Given the description of an element on the screen output the (x, y) to click on. 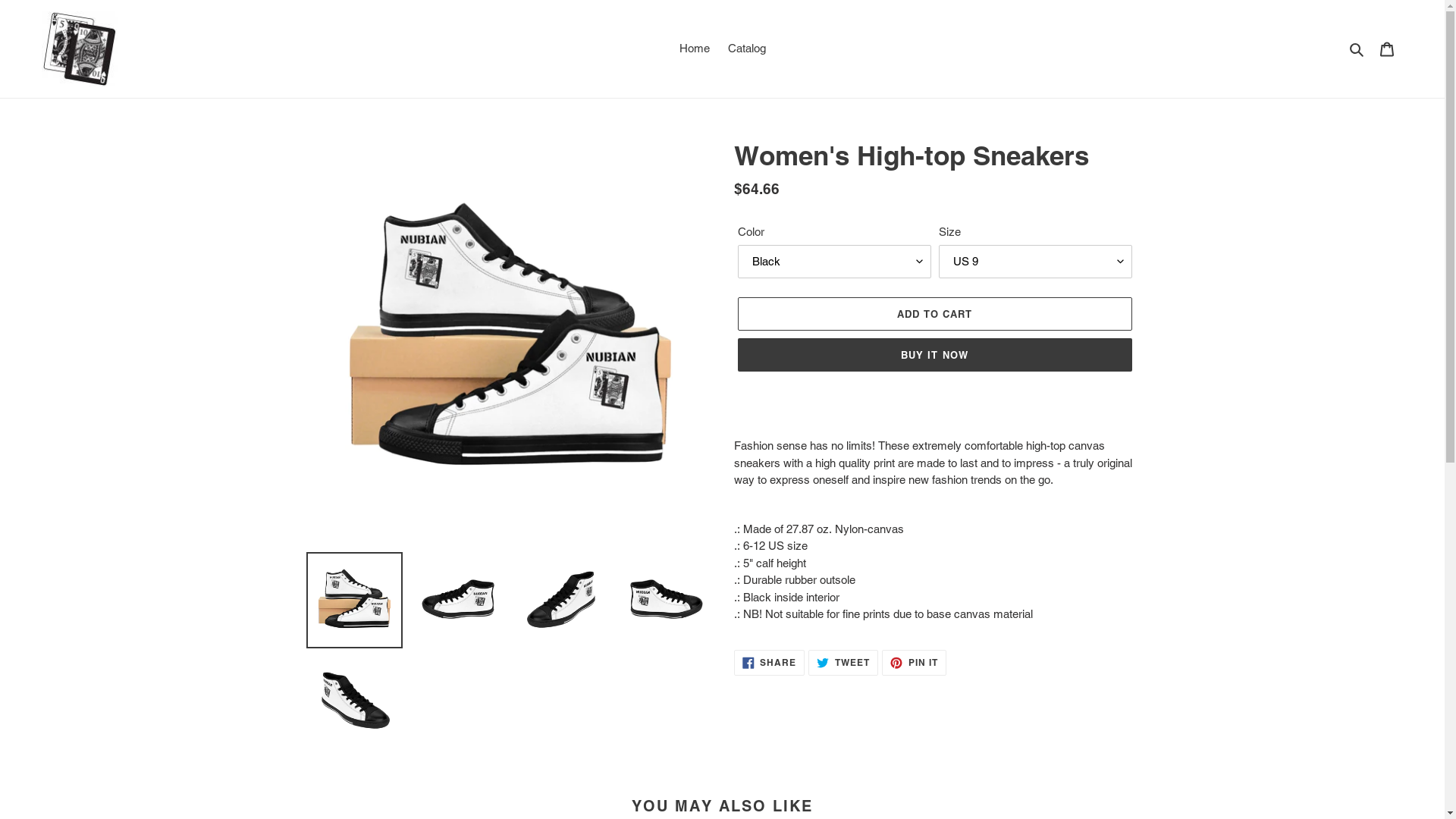
Catalog Element type: text (746, 48)
PIN IT
PIN ON PINTEREST Element type: text (913, 662)
ADD TO CART Element type: text (934, 313)
SHARE
SHARE ON FACEBOOK Element type: text (769, 662)
Cart Element type: text (1386, 48)
Search Element type: text (1357, 48)
BUY IT NOW Element type: text (934, 354)
TWEET
TWEET ON TWITTER Element type: text (843, 662)
Home Element type: text (694, 48)
